Given the description of an element on the screen output the (x, y) to click on. 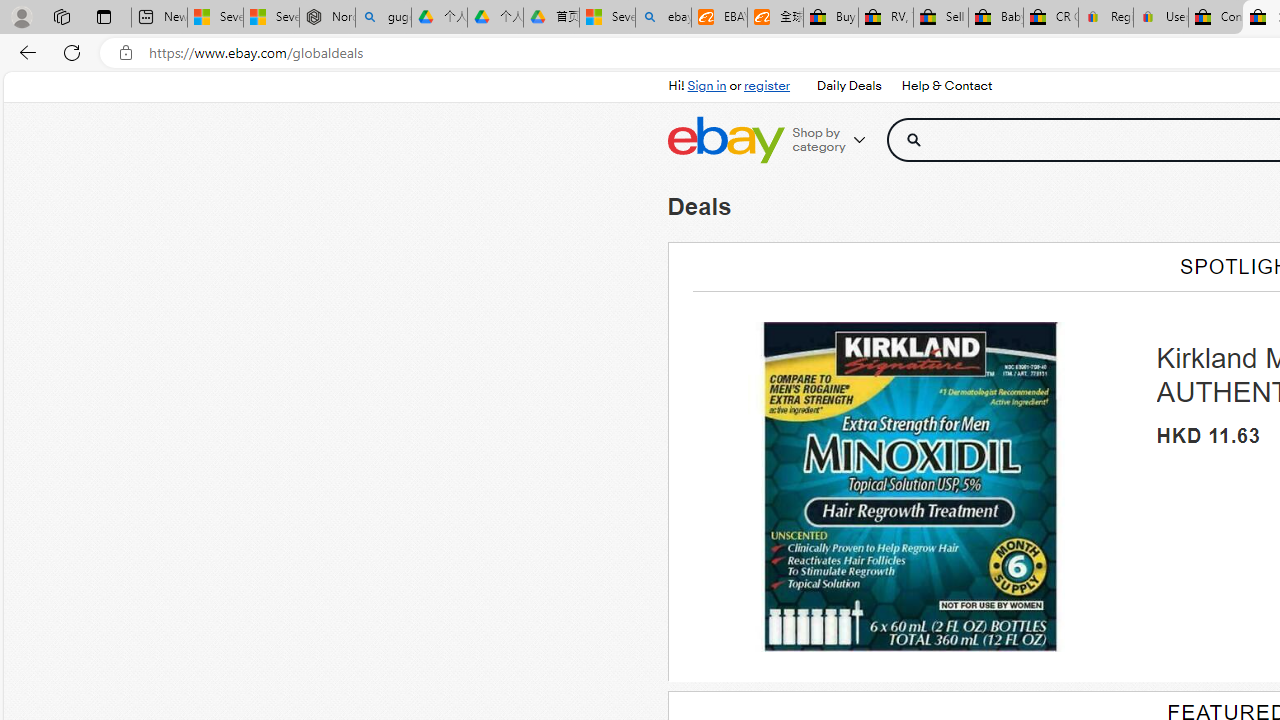
eBay Home (725, 139)
eBay Home (725, 139)
register (766, 85)
Deals (699, 206)
Help & Contact (945, 85)
guge yunpan - Search (382, 17)
Daily Deals (848, 86)
User Privacy Notice | eBay (1160, 17)
Register: Create a personal eBay account (1105, 17)
